Given the description of an element on the screen output the (x, y) to click on. 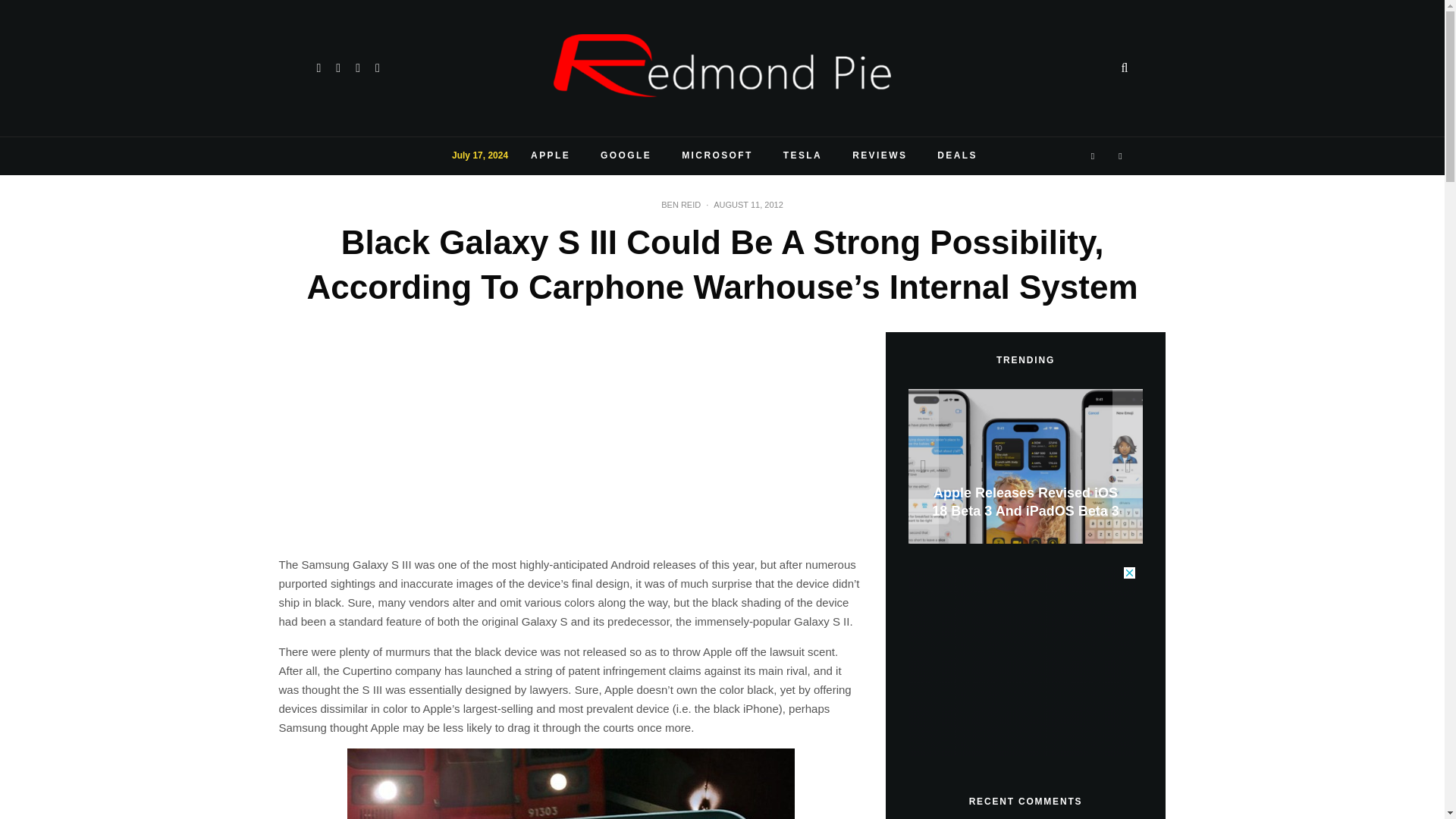
GOOGLE (625, 156)
APPLE (550, 156)
3rd party ad content (1021, 660)
MICROSOFT (717, 156)
TESLA (802, 156)
